Given the description of an element on the screen output the (x, y) to click on. 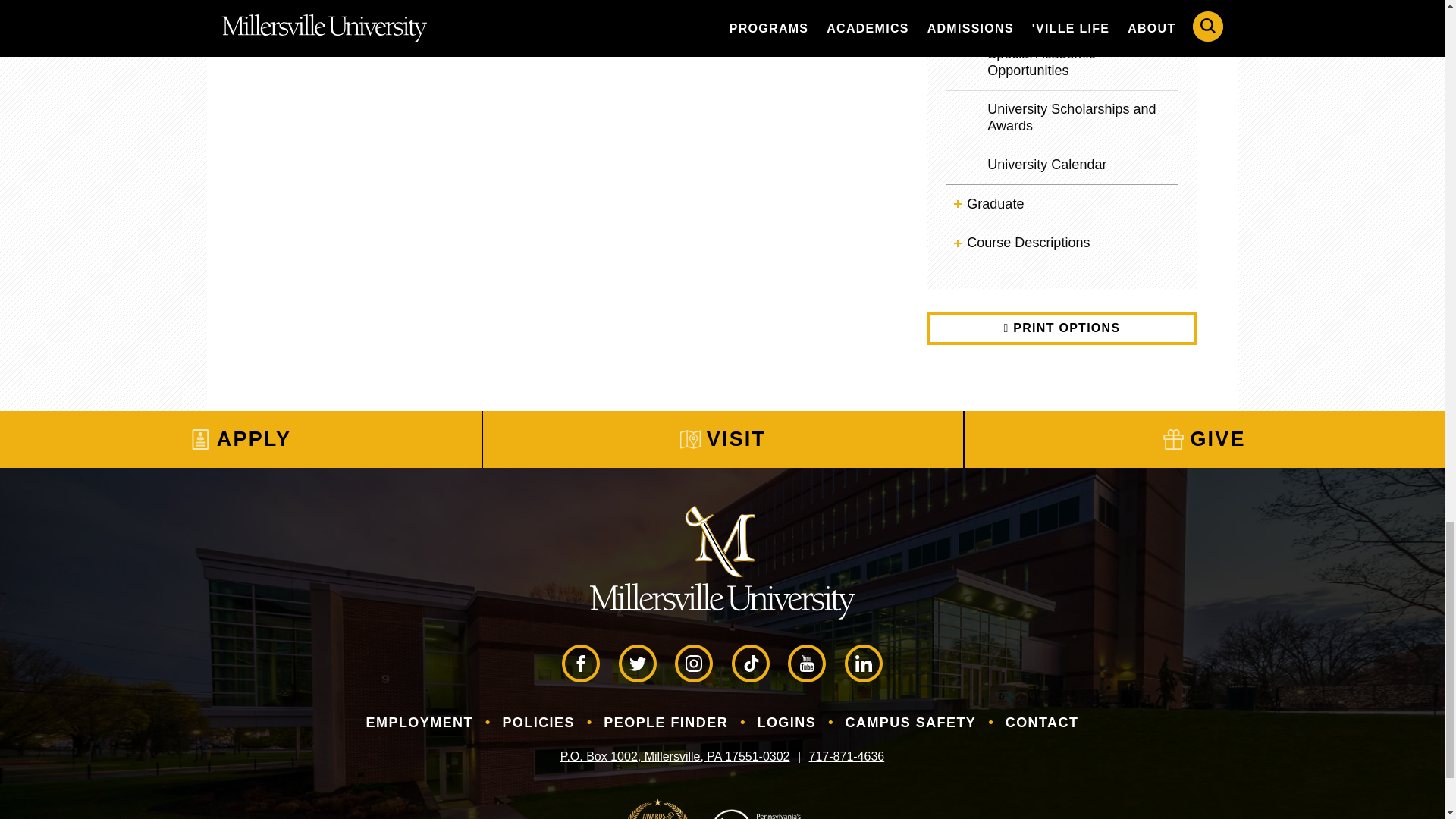
Instagram (694, 663)
Employment (419, 722)
Campus Safety (911, 722)
TikTok (751, 663)
Facebook (580, 663)
Twitter (637, 663)
Policies (537, 722)
Logins (785, 722)
People Finder (665, 722)
Contact (1042, 722)
YouTube (806, 663)
LinkedIn (863, 663)
